Given the description of an element on the screen output the (x, y) to click on. 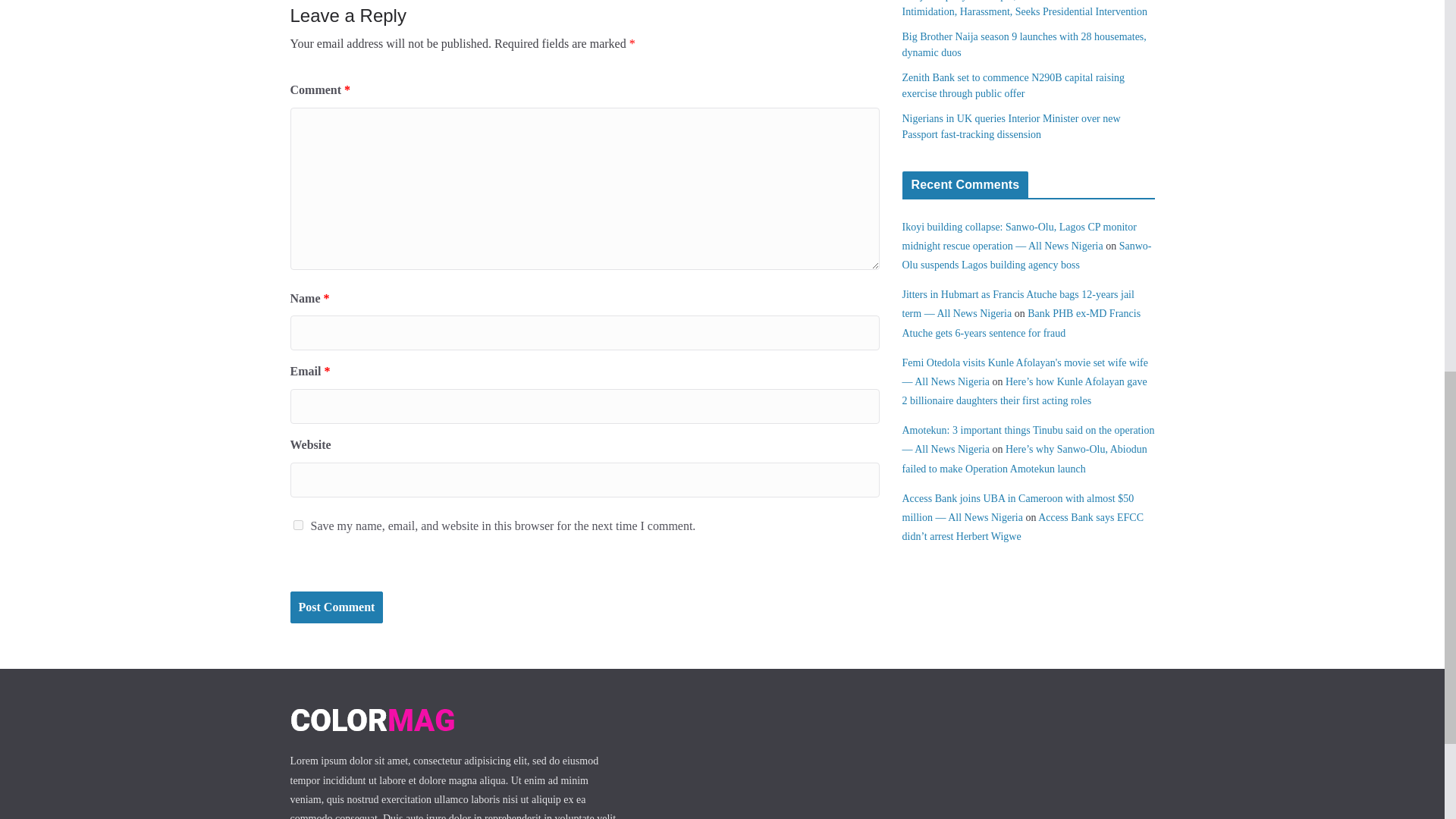
yes (297, 524)
Post Comment (335, 607)
Post Comment (335, 607)
